Given the description of an element on the screen output the (x, y) to click on. 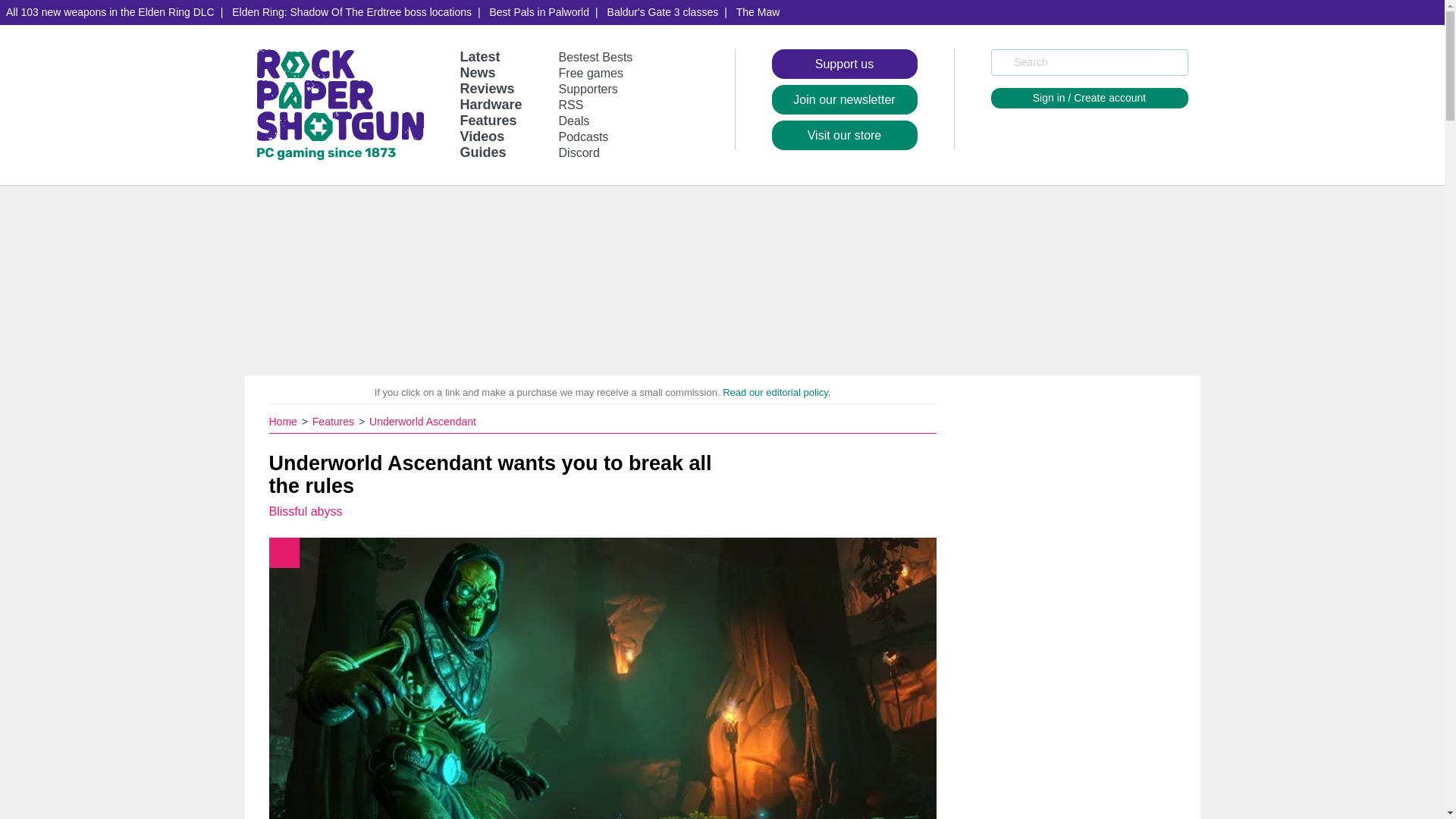
Bestest Bests (596, 56)
Support us (844, 63)
Discord (579, 152)
Best Pals in Palworld (539, 12)
Guides (482, 151)
Baldur's Gate 3 classes (663, 12)
Elden Ring: Shadow Of The Erdtree boss locations (351, 12)
Deals (574, 120)
Guides (482, 151)
Home (283, 421)
